Given the description of an element on the screen output the (x, y) to click on. 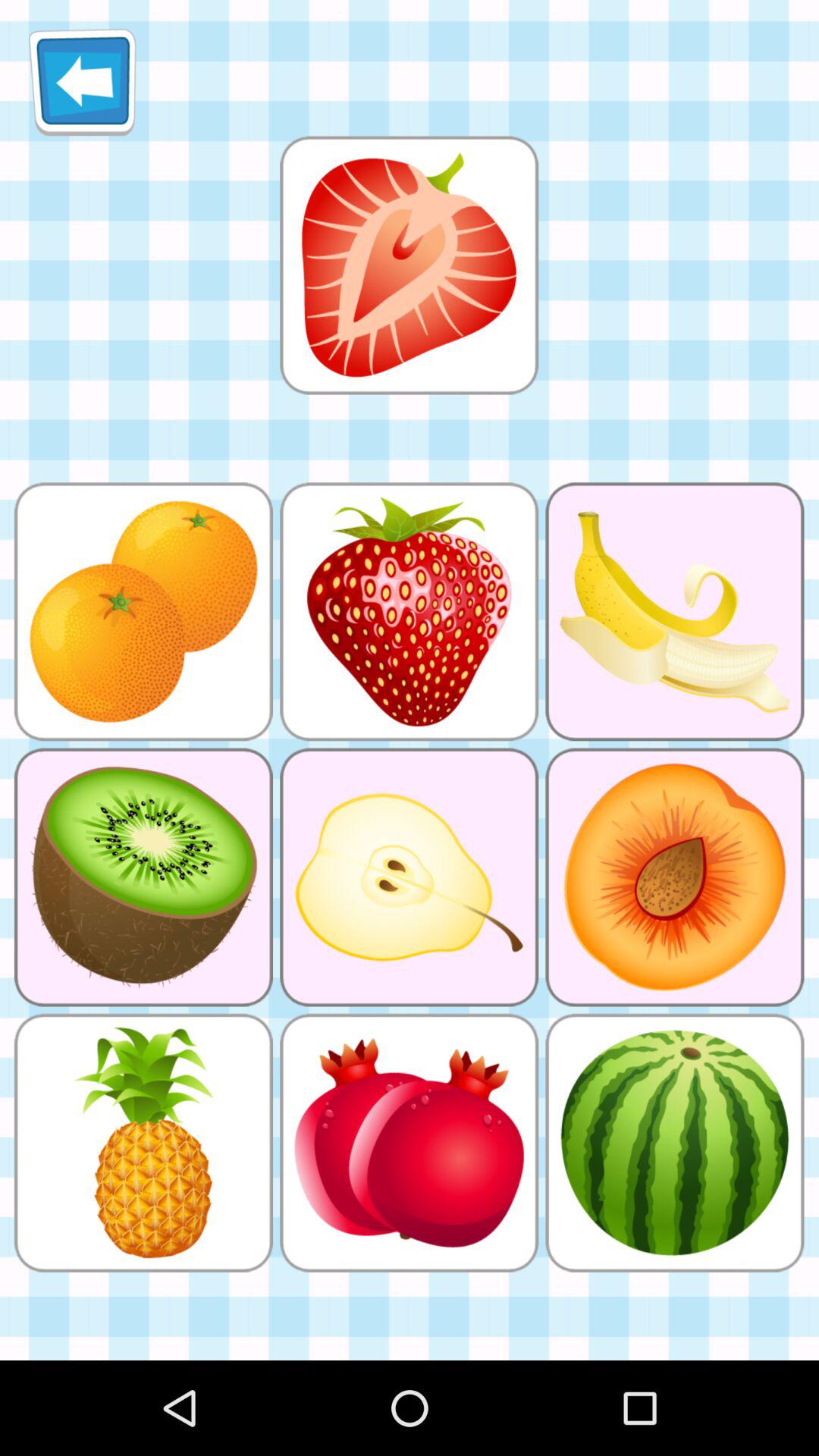
go back (82, 82)
